Given the description of an element on the screen output the (x, y) to click on. 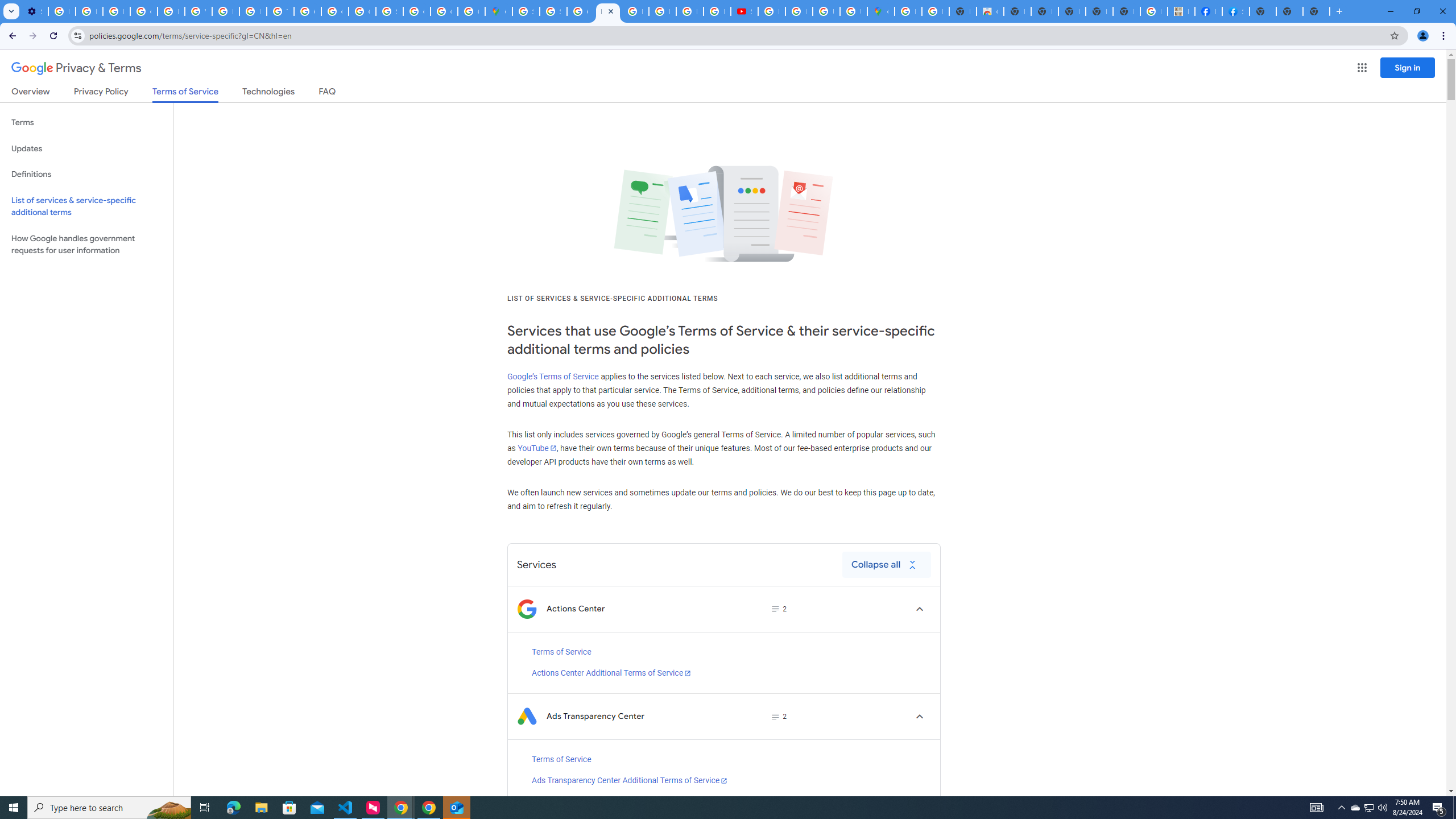
New Tab (1262, 11)
MILEY CYRUS. (1180, 11)
Ads Transparency Center Additional Terms of Service (629, 780)
Miley Cyrus | Facebook (1208, 11)
Sign in - Google Accounts (525, 11)
Settings - Customize profile (34, 11)
